Given the description of an element on the screen output the (x, y) to click on. 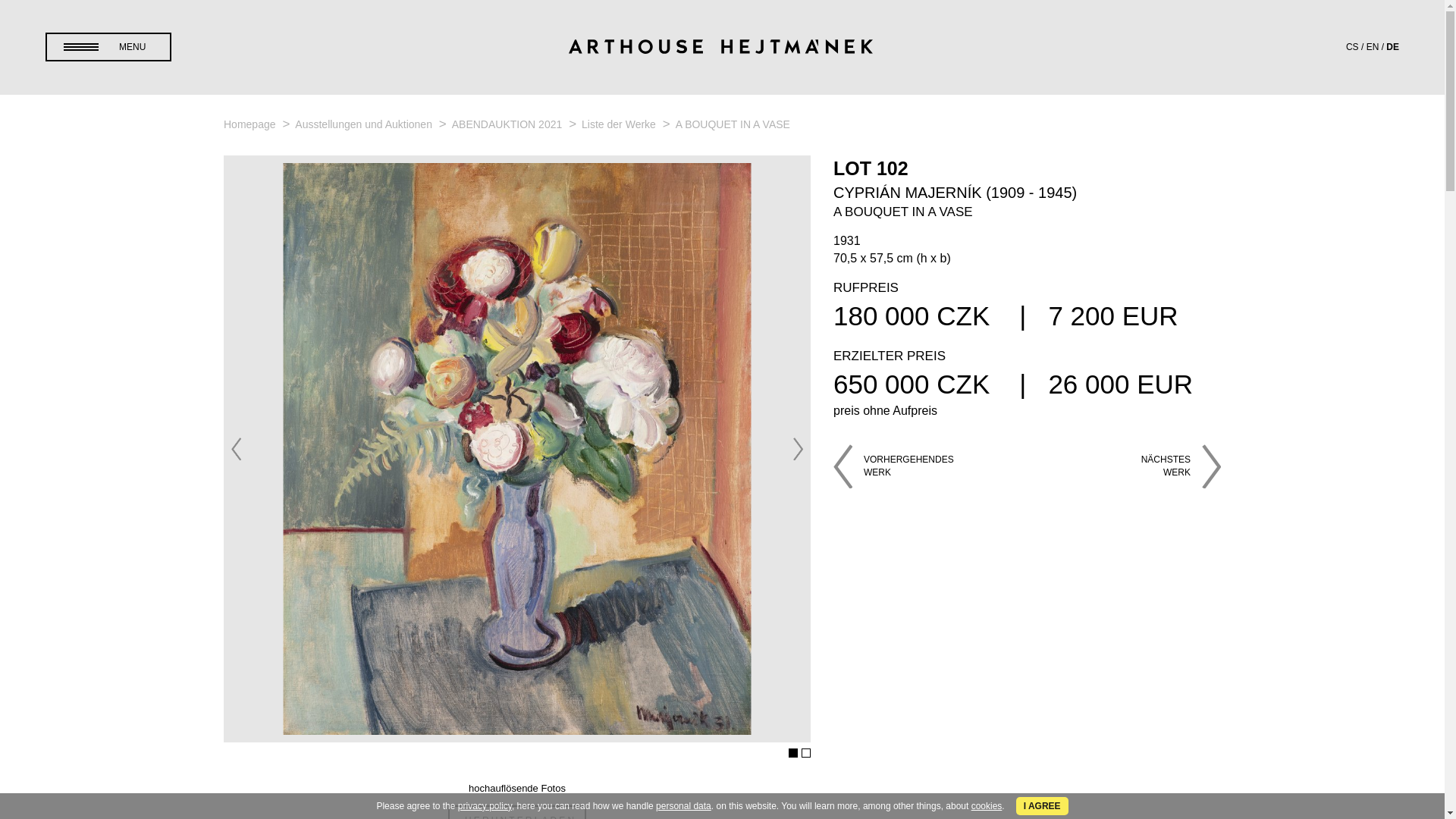
A BOUQUET IN A VASE (732, 123)
ABENDAUKTION 2021 (507, 123)
I AGREE (1042, 805)
privacy policy (485, 805)
personal data (683, 805)
CS (1351, 46)
Homepage (251, 123)
Ausstellungen und Auktionen (364, 123)
Liste der Werke (619, 123)
MENU (108, 47)
EN (1372, 46)
cookies (987, 805)
DE (1392, 46)
